Given the description of an element on the screen output the (x, y) to click on. 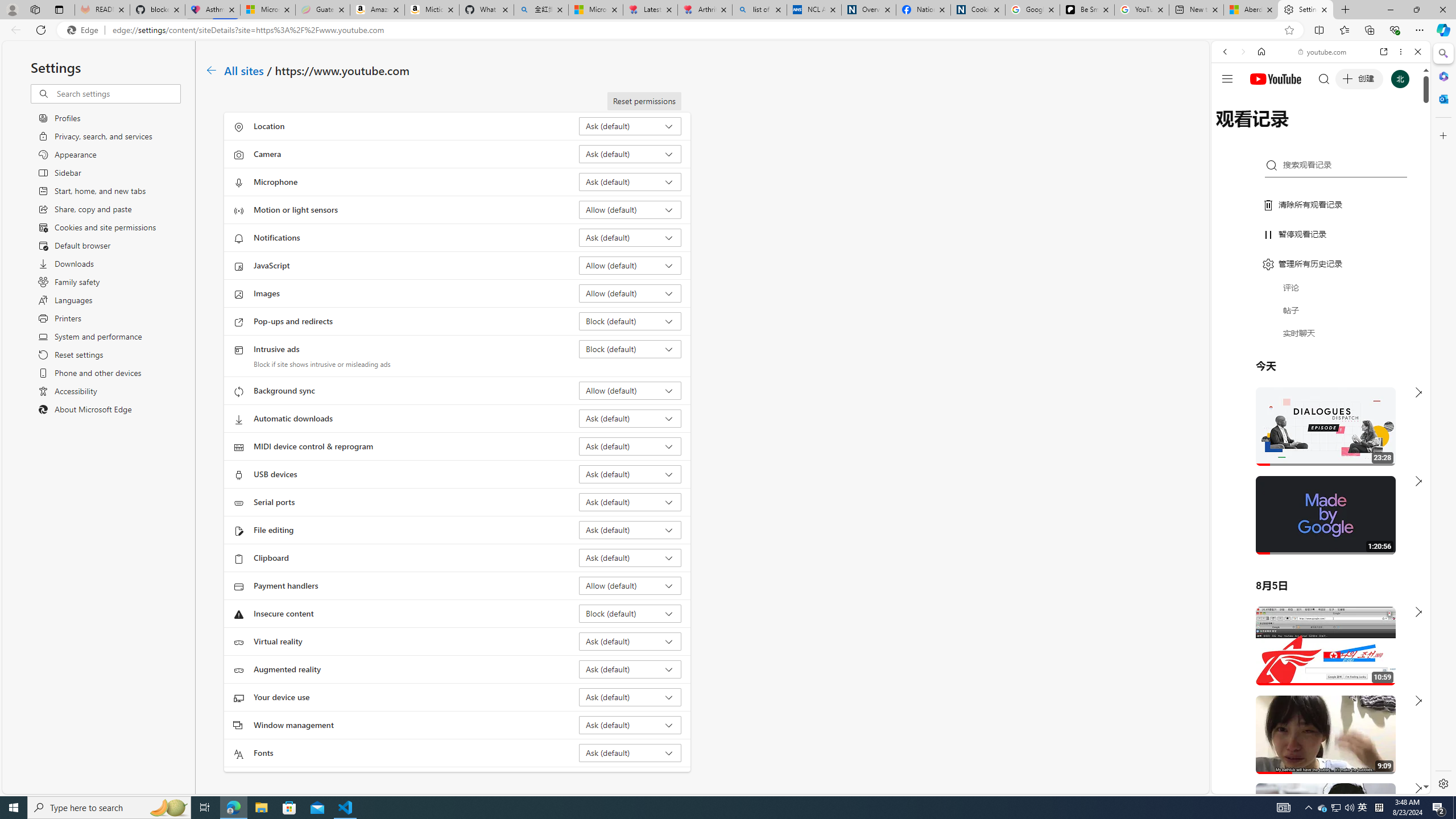
Pop-ups and redirects Block (default) (630, 321)
Insecure content Block (default) (630, 613)
Automatic downloads Ask (default) (630, 418)
Reset permissions (644, 100)
Virtual reality Ask (default) (630, 641)
